Given the description of an element on the screen output the (x, y) to click on. 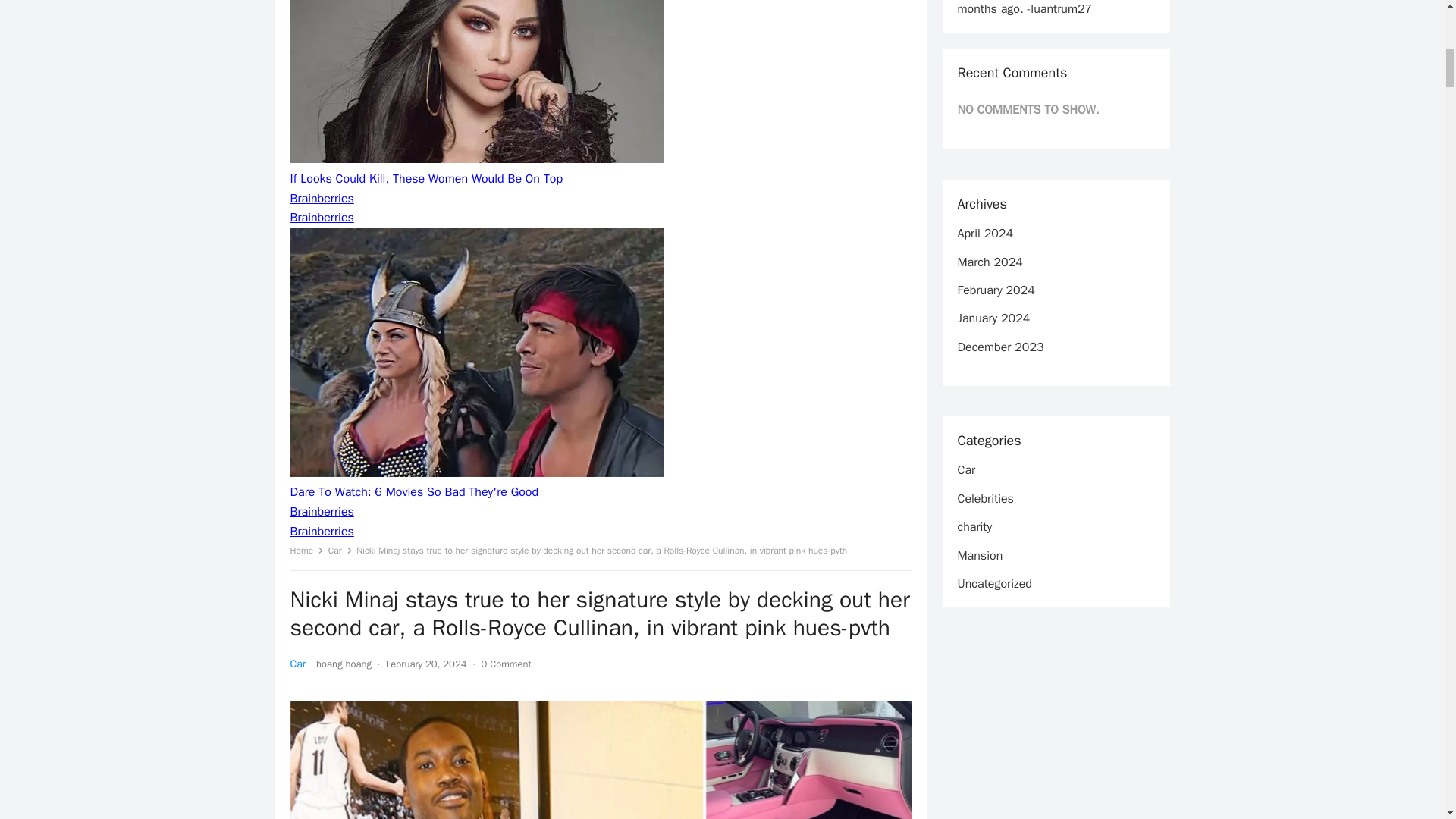
0 Comment (505, 663)
hoang hoang (343, 663)
Car (340, 550)
Posts by hoang hoang (343, 663)
Home (306, 550)
Car (297, 663)
